Given the description of an element on the screen output the (x, y) to click on. 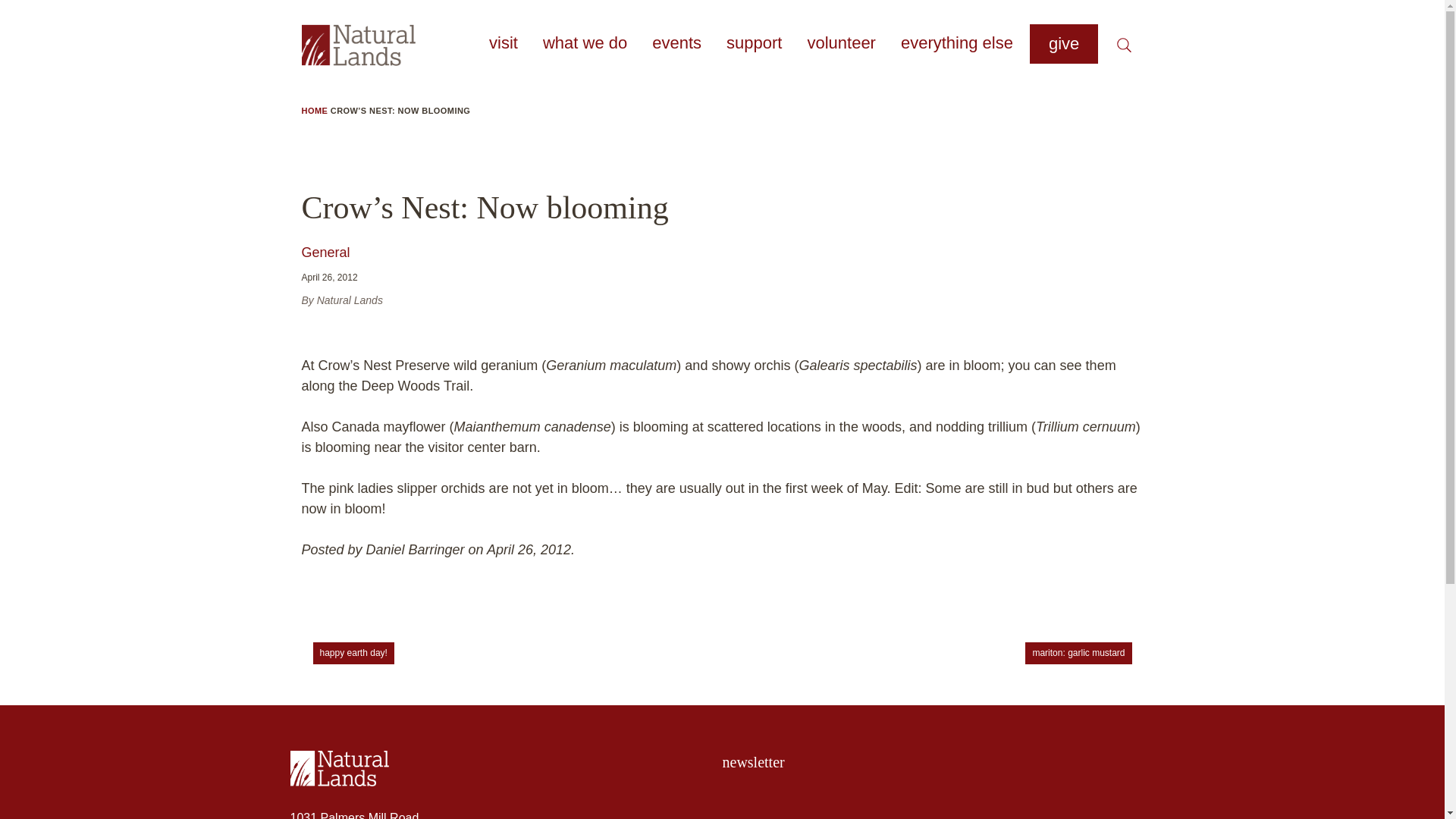
General (325, 252)
what we do (584, 42)
events (676, 42)
HOME (315, 110)
volunteer (840, 42)
visit (502, 42)
support (753, 42)
happy earth day! (353, 653)
Natural Lands (505, 768)
mariton: garlic mustard (1078, 653)
everything else (957, 42)
Go to Natural Lands. (315, 110)
give (1063, 43)
